Given the description of an element on the screen output the (x, y) to click on. 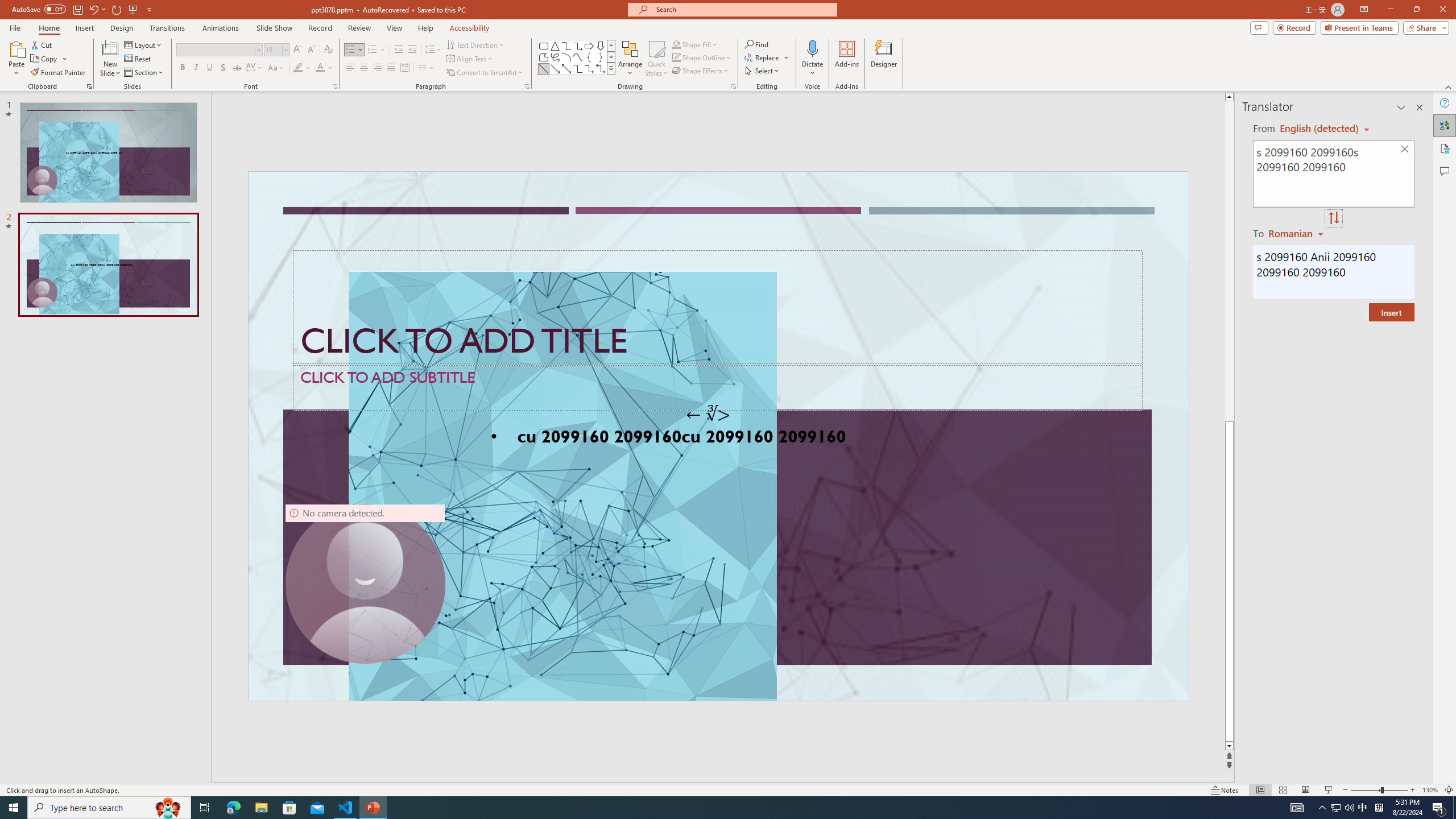
Zoom 130% (1430, 790)
An abstract genetic concept (718, 436)
Line Arrow: Double (566, 68)
